Given the description of an element on the screen output the (x, y) to click on. 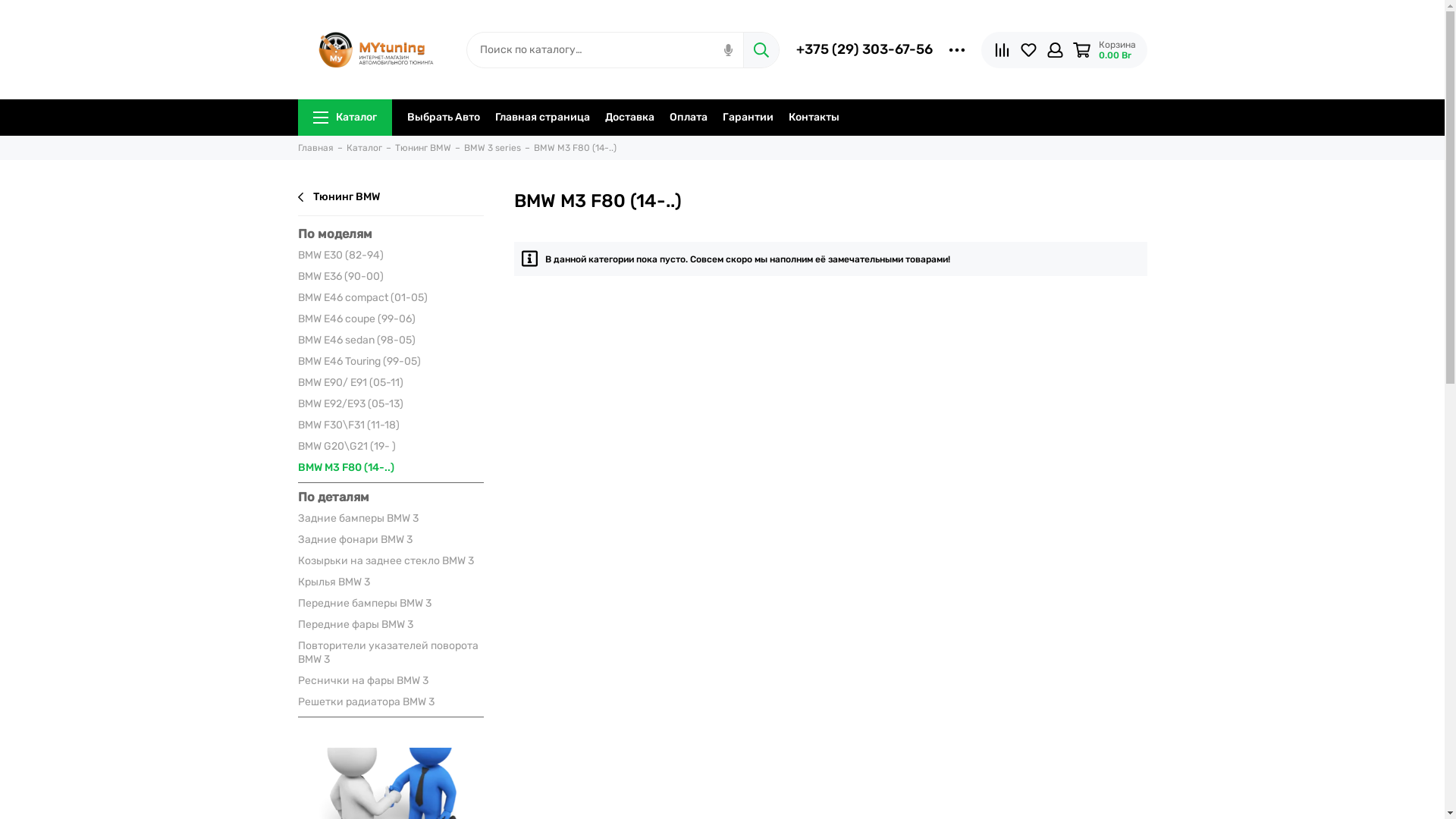
BMW F30\F31 (11-18) Element type: text (390, 425)
BMW 3 series Element type: text (492, 147)
+375 (29) 303-67-56 Element type: text (864, 48)
BMW E36 (90-00) Element type: text (390, 276)
BMW M3 F80 (14-..) Element type: text (390, 467)
BMW E46 Touring (99-05) Element type: text (390, 361)
BMW E46 compact (01-05) Element type: text (390, 297)
BMW E46 coupe (99-06) Element type: text (390, 319)
BMW G20\G21 (19- ) Element type: text (390, 446)
BMW E92/E93 (05-13) Element type: text (390, 404)
BMW M3 F80 (14-..) Element type: text (574, 147)
BMW E30 (82-94) Element type: text (390, 255)
BMW E46 sedan (98-05) Element type: text (390, 340)
BMW E90/ E91 (05-11) Element type: text (390, 382)
